Given the description of an element on the screen output the (x, y) to click on. 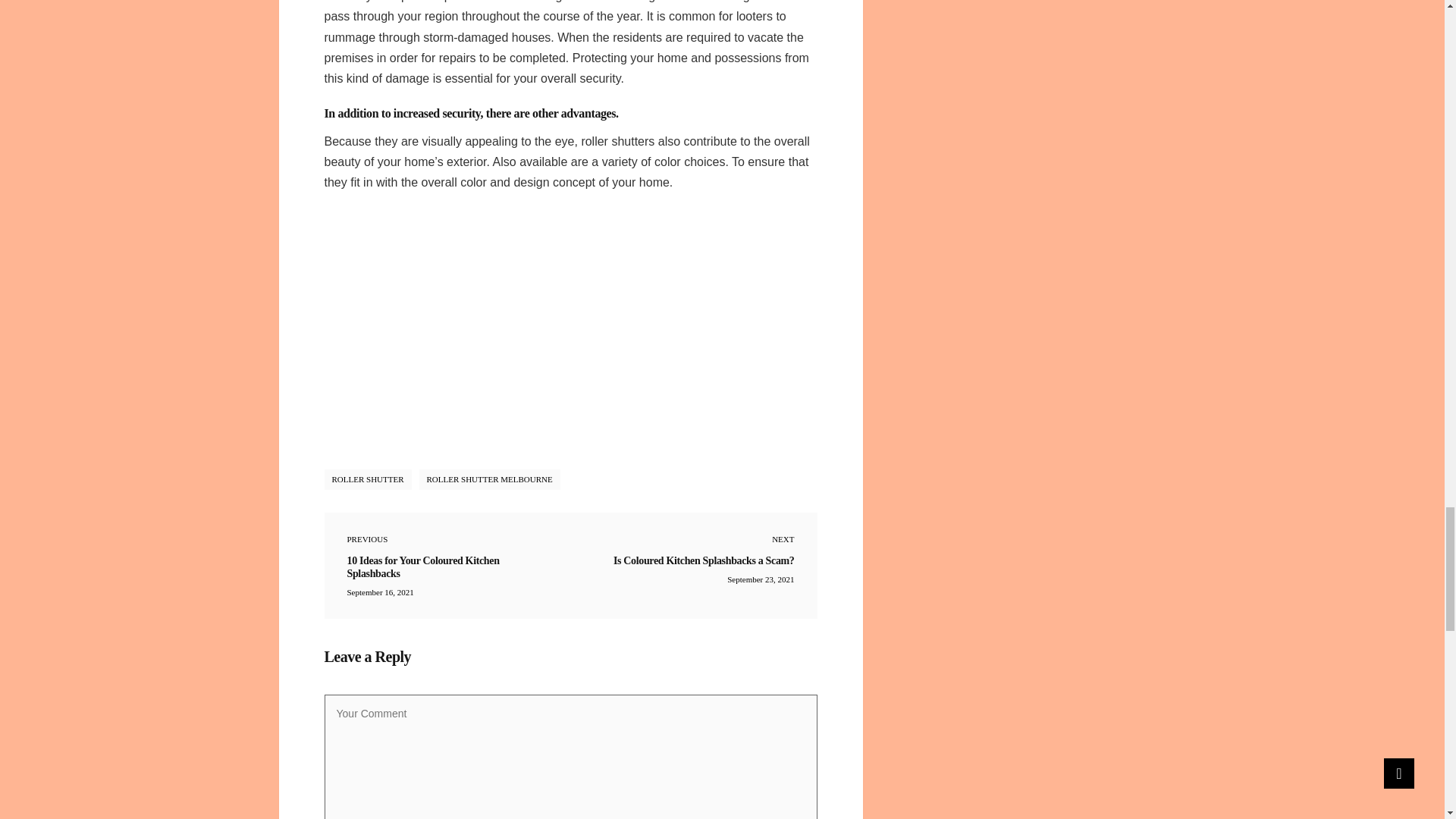
10 Ideas for Your Coloured Kitchen Splashbacks (447, 565)
YouTube video player (570, 327)
